Given the description of an element on the screen output the (x, y) to click on. 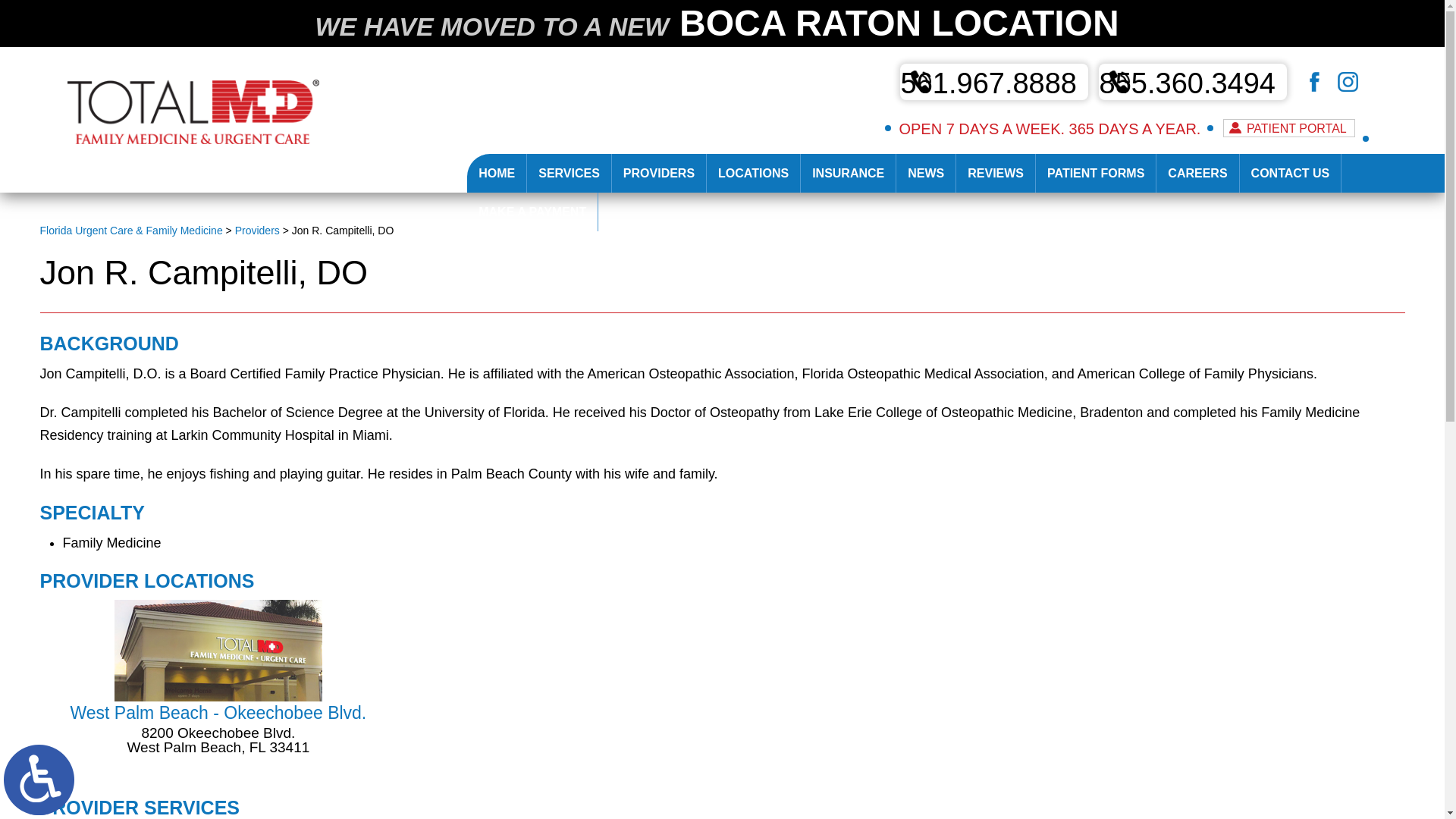
HOME (496, 172)
855.360.3494 (1193, 81)
PATIENT PORTAL (1289, 127)
PROVIDERS (658, 172)
Instagram (1329, 92)
SERVICES (569, 172)
WE HAVE MOVED TO A NEWBOCA RATON LOCATION (721, 23)
561.967.8888 (993, 81)
LOCATIONS (752, 172)
Facebook (1337, 92)
